Given the description of an element on the screen output the (x, y) to click on. 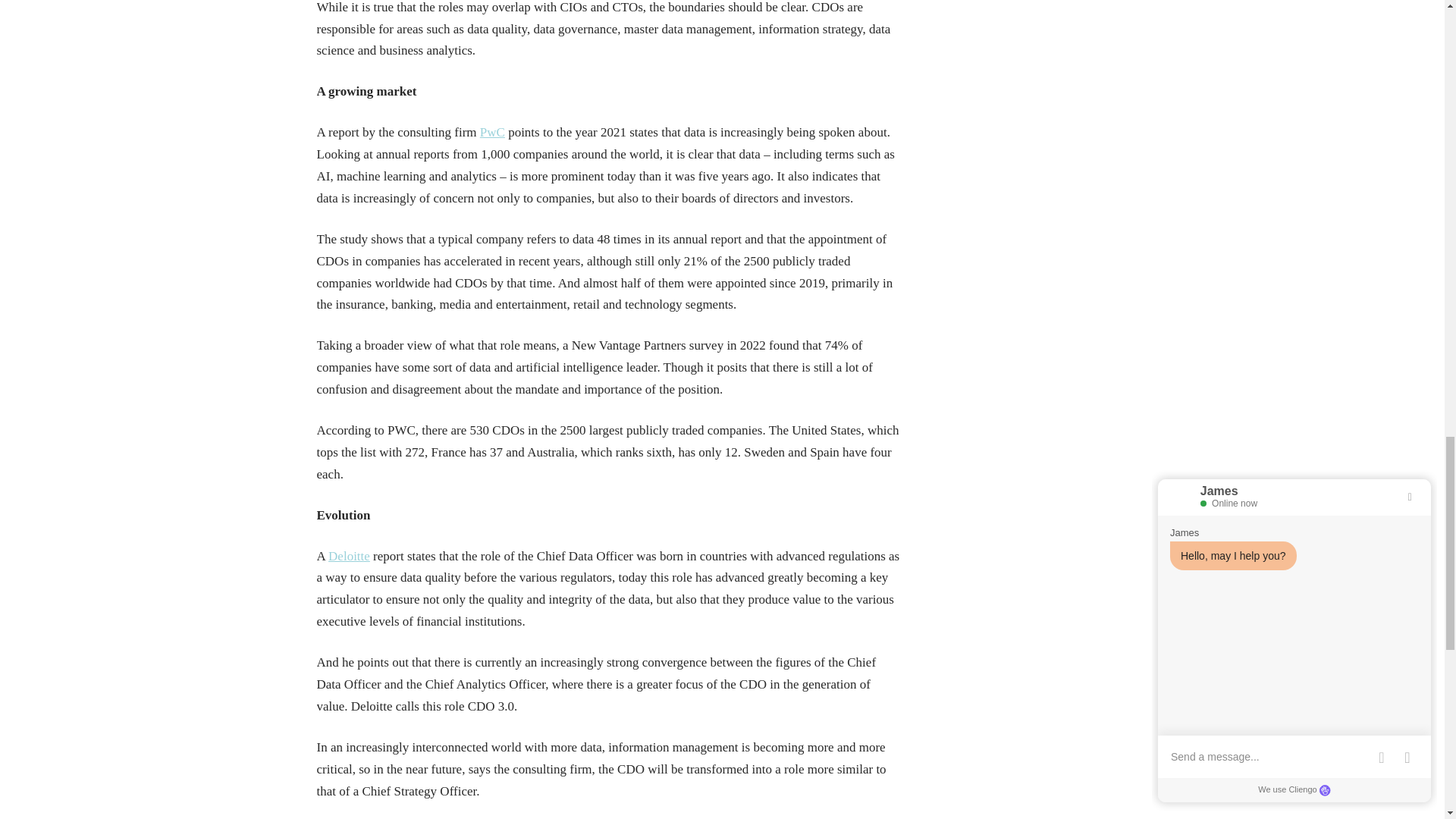
PwC (492, 132)
Deloitte (349, 555)
